Given the description of an element on the screen output the (x, y) to click on. 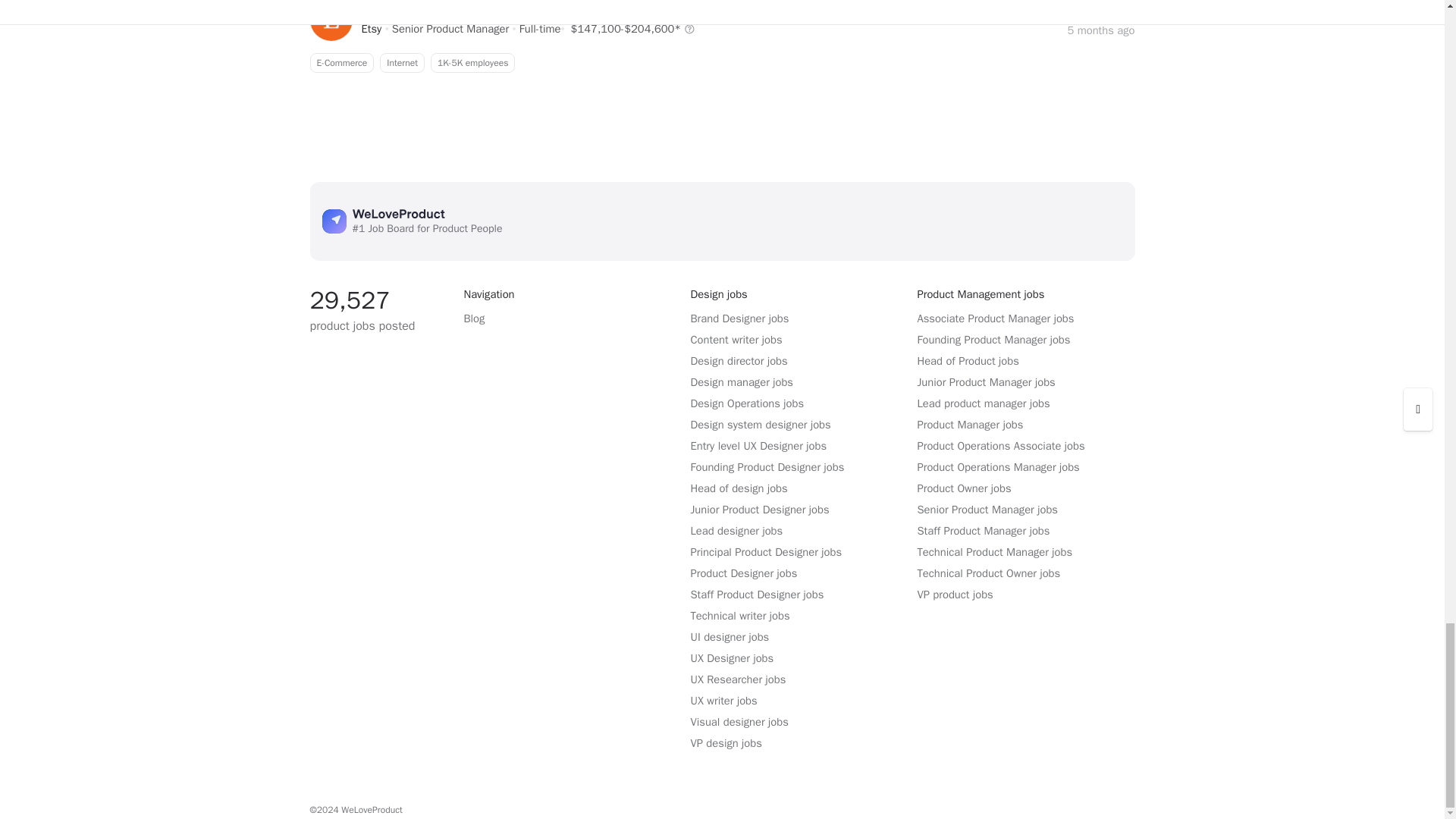
Senior Product Manager jobs at Etsy (721, 62)
Senior Product Manager jobs (371, 29)
